Given the description of an element on the screen output the (x, y) to click on. 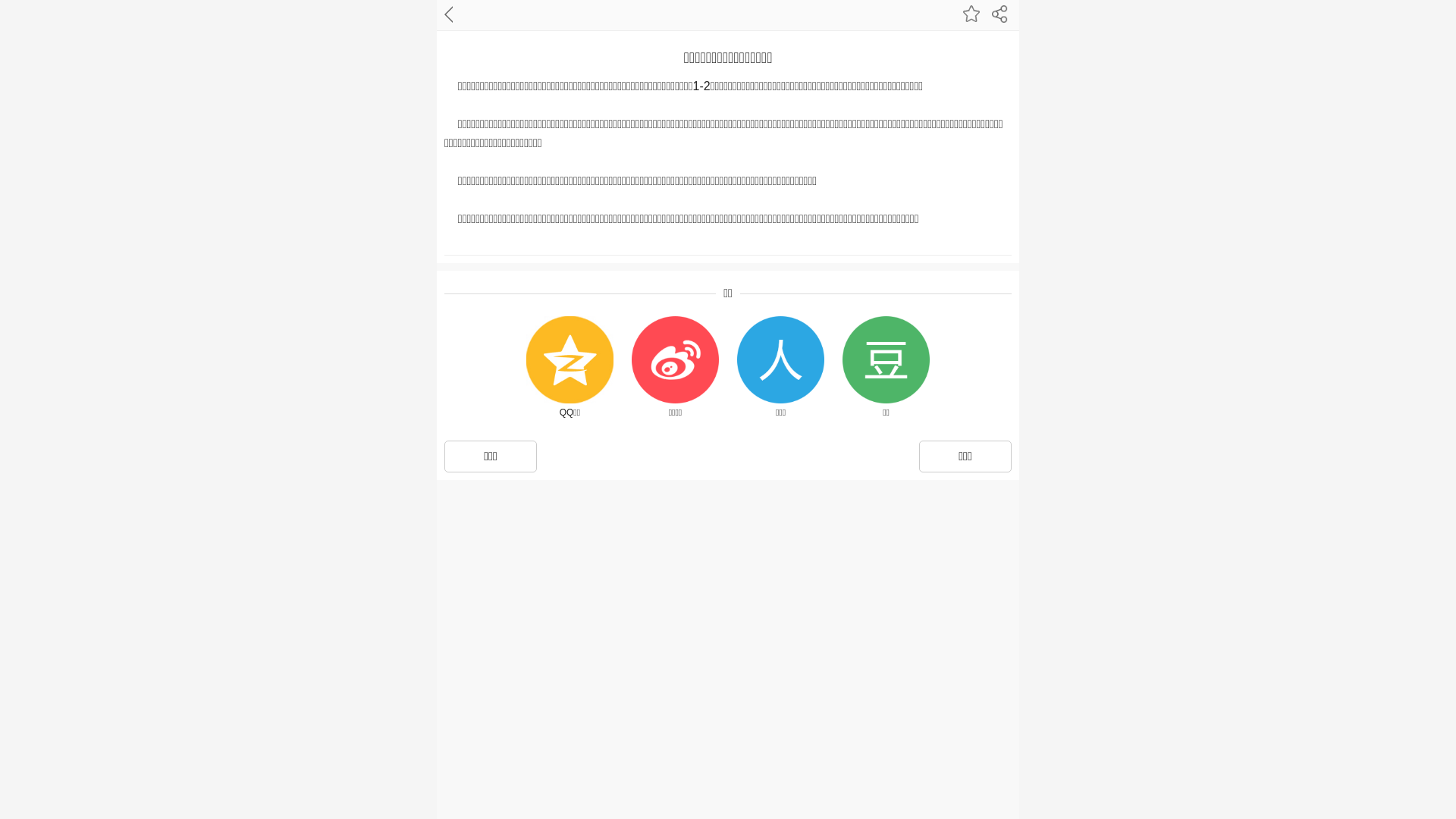
0 Element type: text (55, 49)
